Given the description of an element on the screen output the (x, y) to click on. 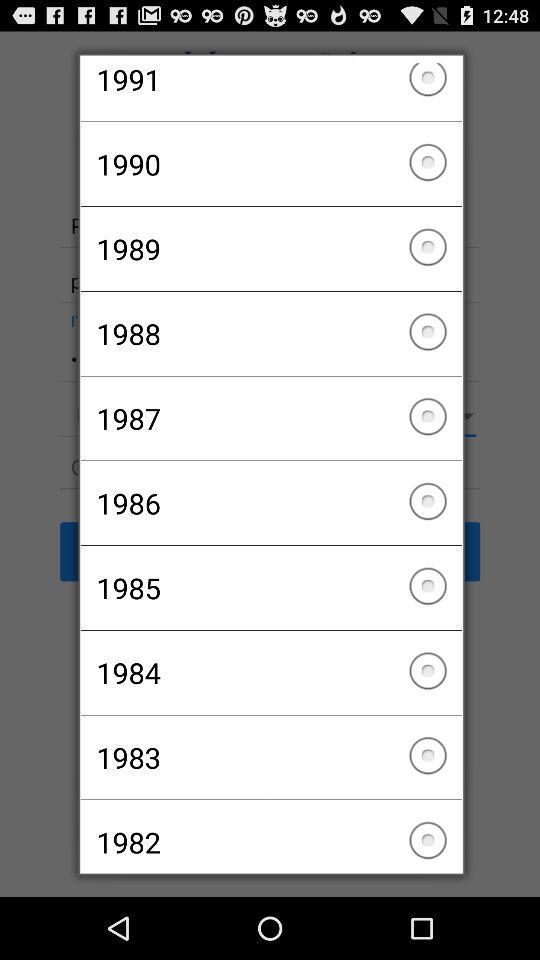
swipe to the 1988 checkbox (270, 333)
